Given the description of an element on the screen output the (x, y) to click on. 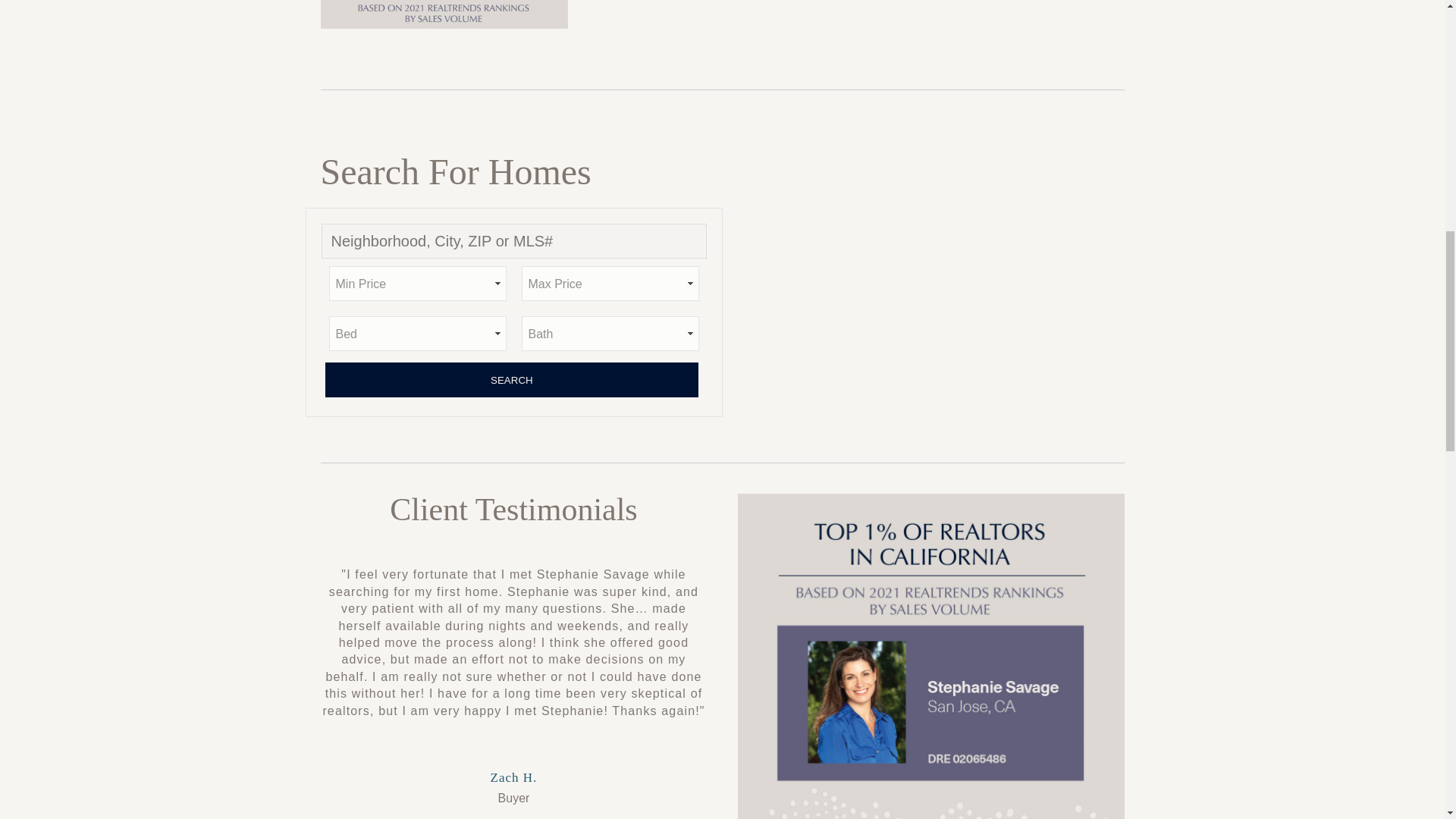
Search (511, 379)
Client Testimonials (513, 509)
award (443, 14)
YouTube video player (930, 269)
Search (511, 379)
Client Testimonials (513, 509)
Search (511, 379)
